Given the description of an element on the screen output the (x, y) to click on. 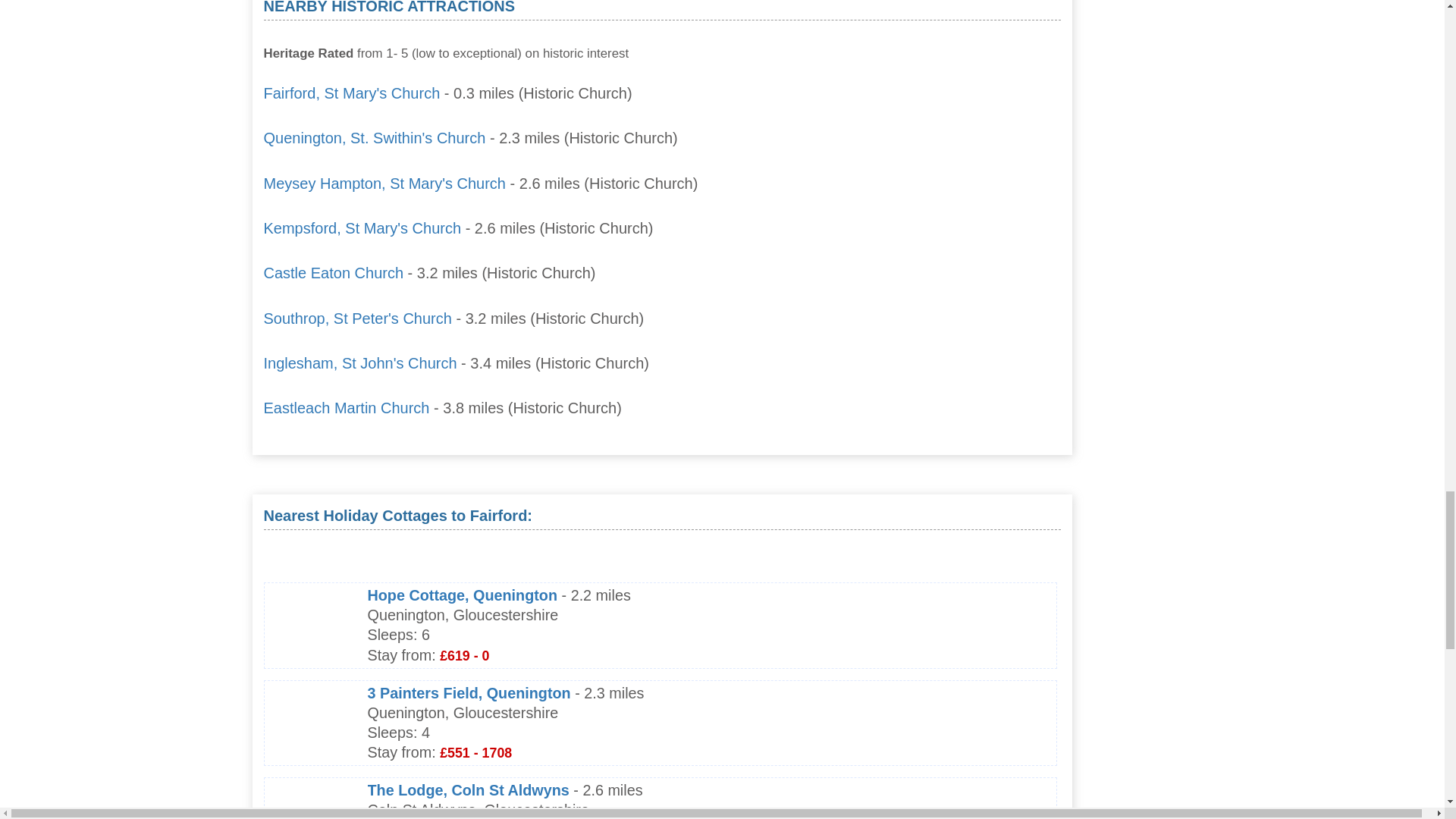
Quenington, St. Swithin's Church, Historic Church (374, 137)
Fairford, St Mary's Church, Historic Church (352, 93)
Eastleach Martin Church, Historic Church (346, 407)
Inglesham, St John's Church, Historic Church (360, 362)
